Given the description of an element on the screen output the (x, y) to click on. 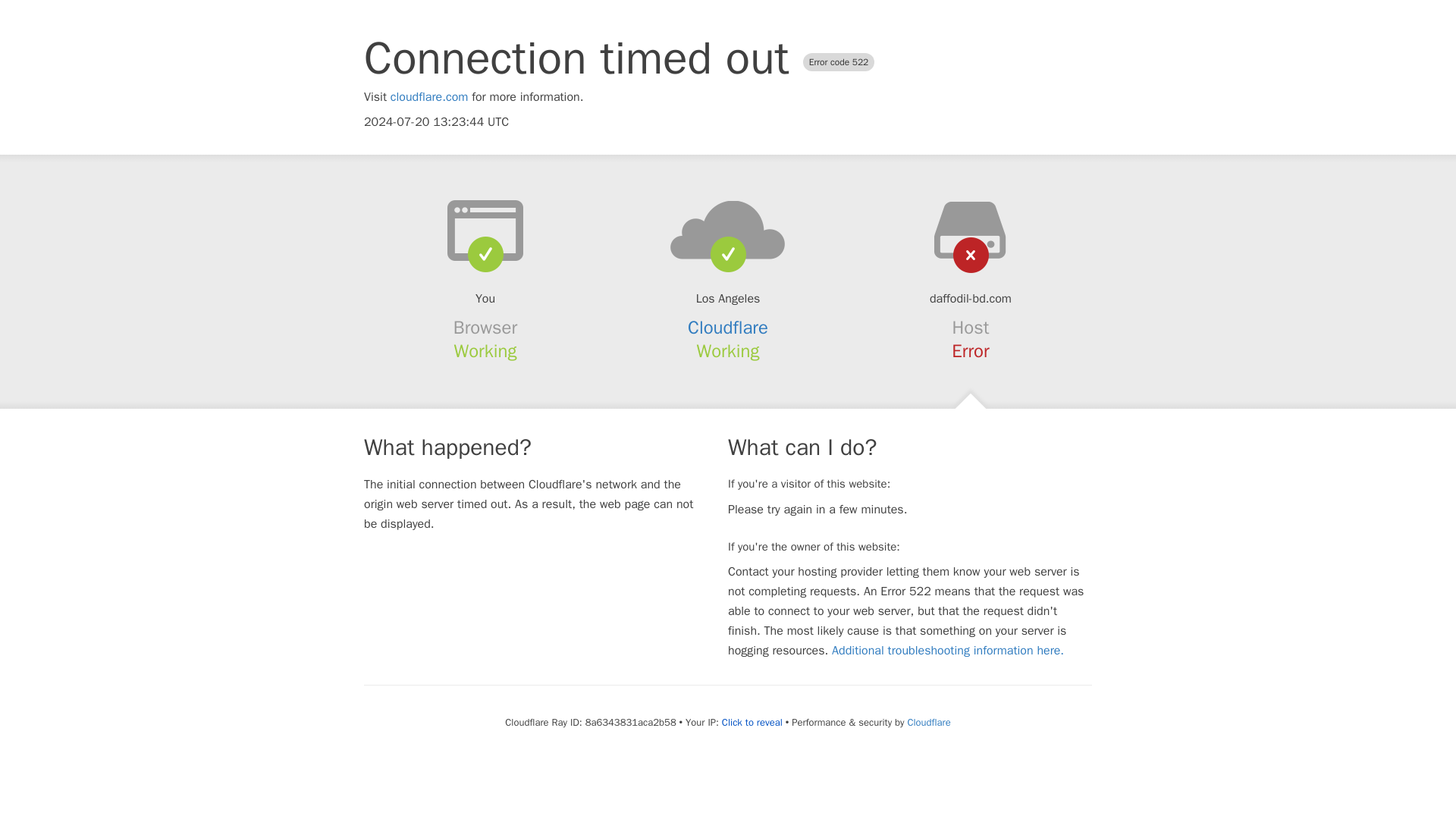
Cloudflare (727, 327)
Cloudflare (928, 721)
Additional troubleshooting information here. (947, 650)
cloudflare.com (429, 96)
Click to reveal (752, 722)
